Given the description of an element on the screen output the (x, y) to click on. 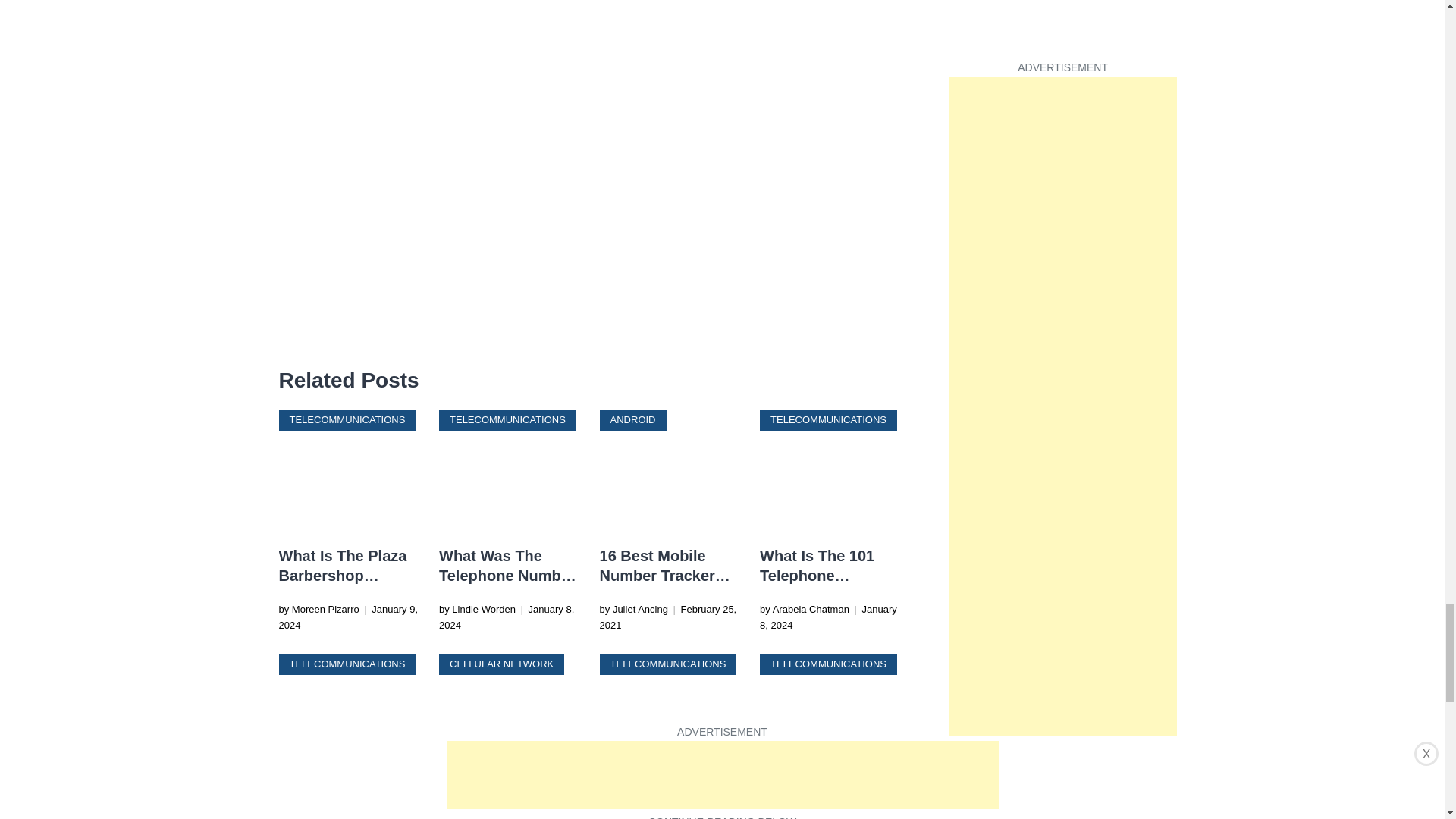
Share on twitter (321, 336)
Share on facebook (291, 336)
